Given the description of an element on the screen output the (x, y) to click on. 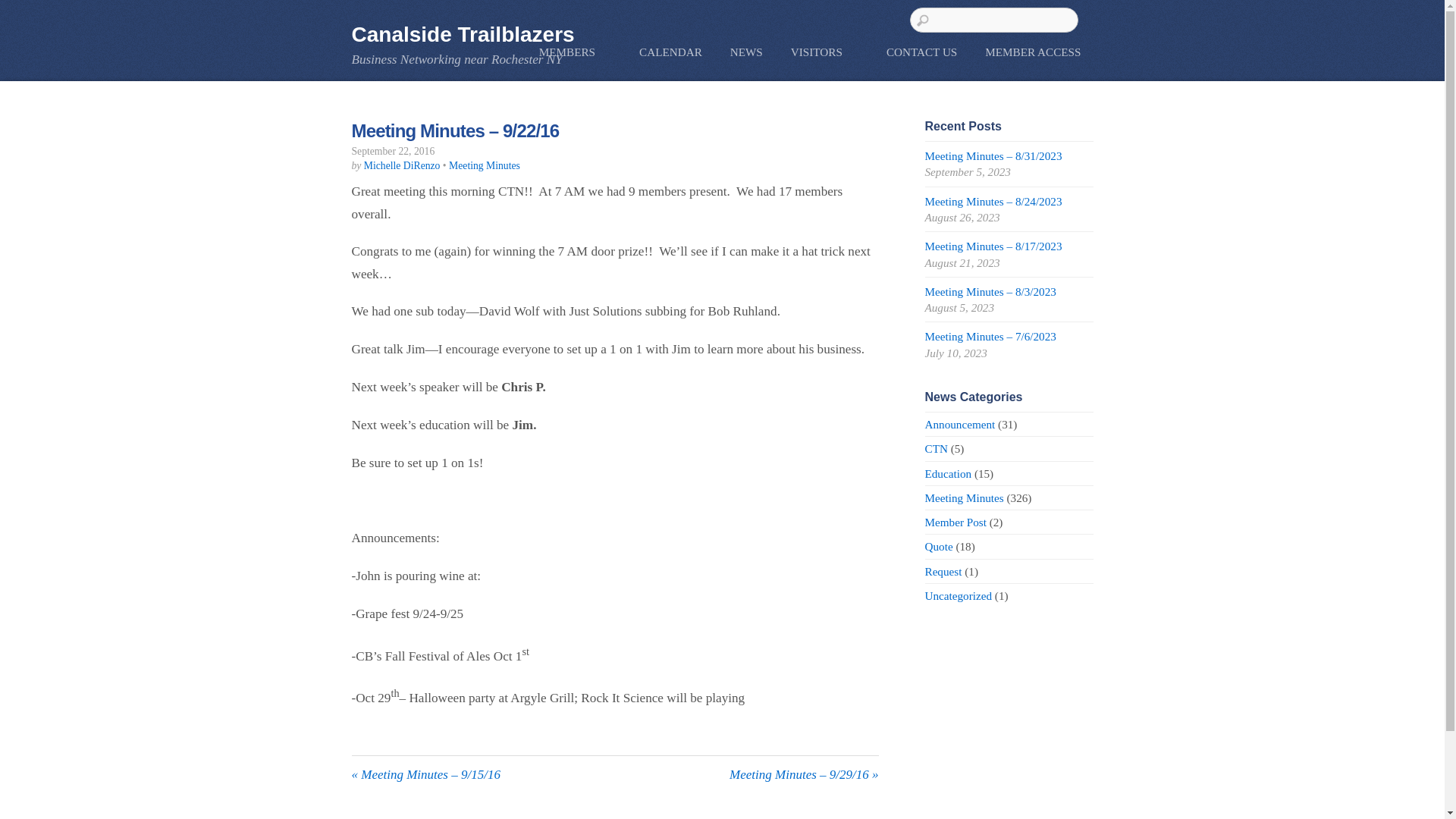
Quote (938, 545)
Canalside Trailblazers (463, 33)
Michelle DiRenzo (402, 165)
Request (943, 571)
CTN (935, 448)
Announcement (959, 423)
MEMBERS (575, 51)
CALENDAR (670, 51)
MEMBER ACCESS (1032, 51)
Uncategorized (958, 594)
Canalside Trailblazers (463, 33)
Meeting Minutes (483, 165)
Education (948, 472)
Meeting Minutes (964, 497)
Search (994, 19)
